Given the description of an element on the screen output the (x, y) to click on. 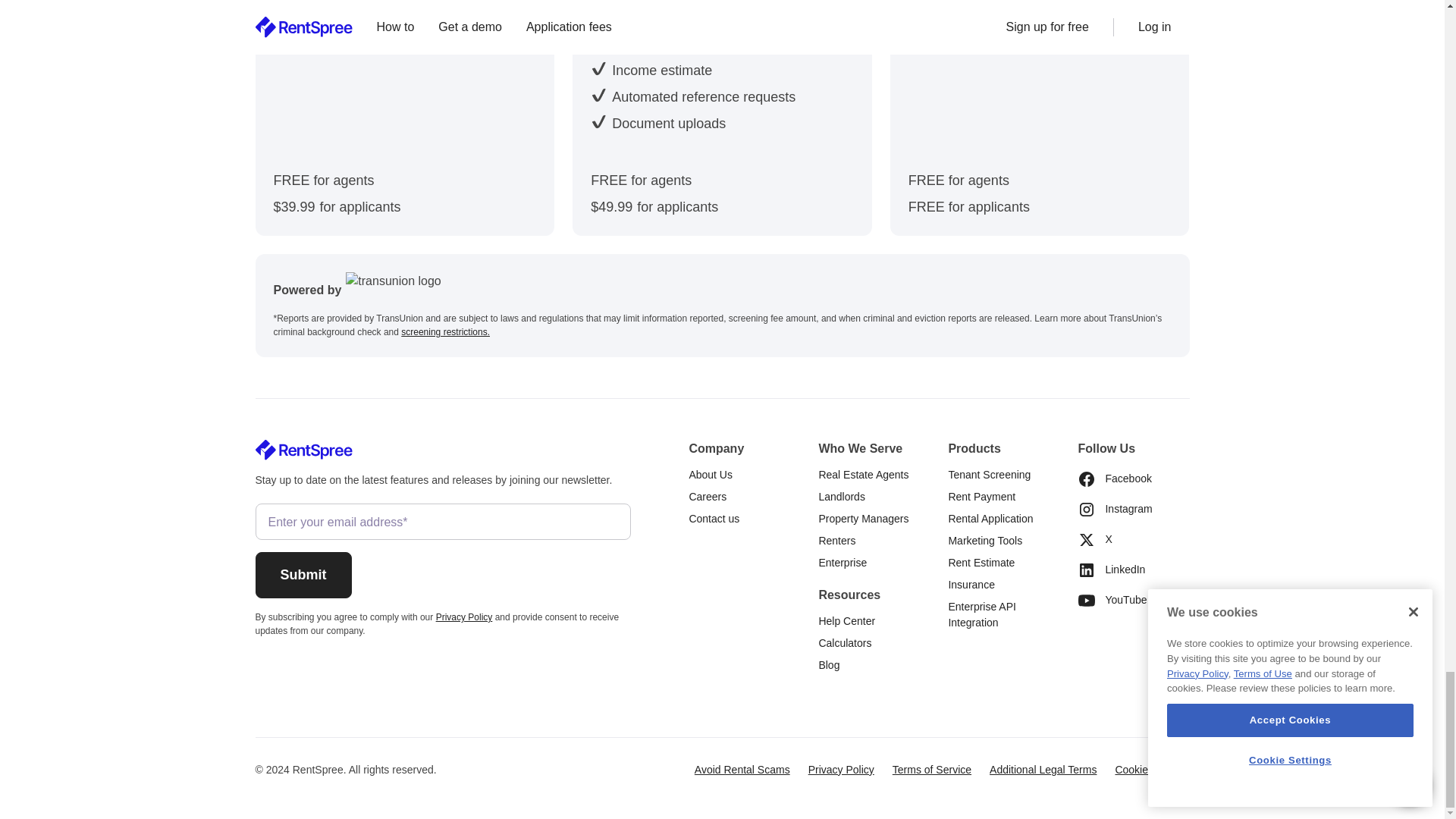
screening restrictions. (445, 331)
Insurance (970, 585)
Privacy Policy (464, 616)
Facebook (1114, 479)
Careers (707, 496)
About Us (710, 475)
Renters (837, 540)
Enterprise API Integration (1003, 614)
Instagram (1114, 509)
Rent Estimate (980, 563)
Help Center (846, 621)
Property Managers (863, 518)
Tenant Screening (988, 475)
Rent Payment (980, 496)
Enterprise (842, 563)
